Given the description of an element on the screen output the (x, y) to click on. 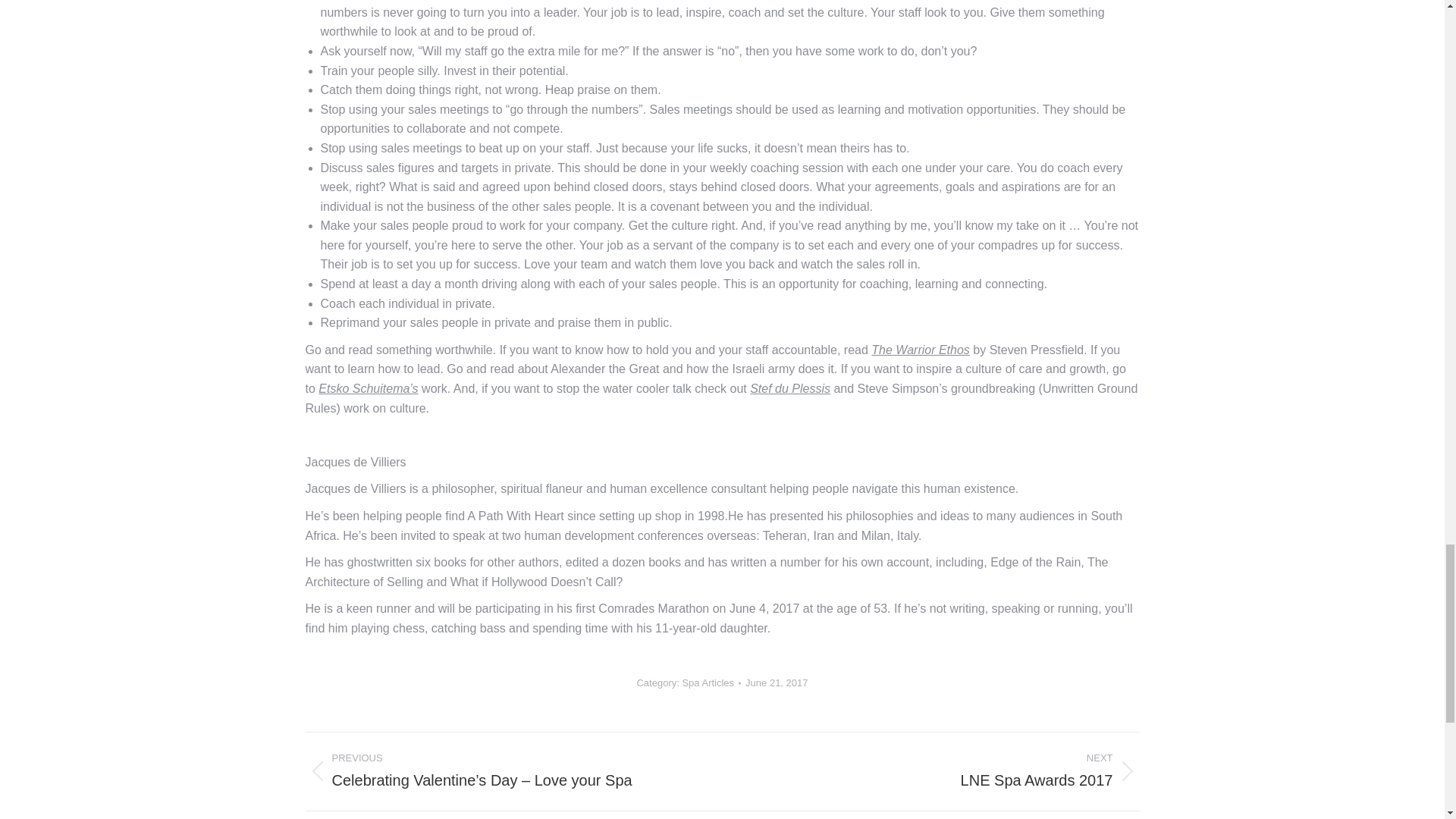
9:22 am (776, 683)
